Given the description of an element on the screen output the (x, y) to click on. 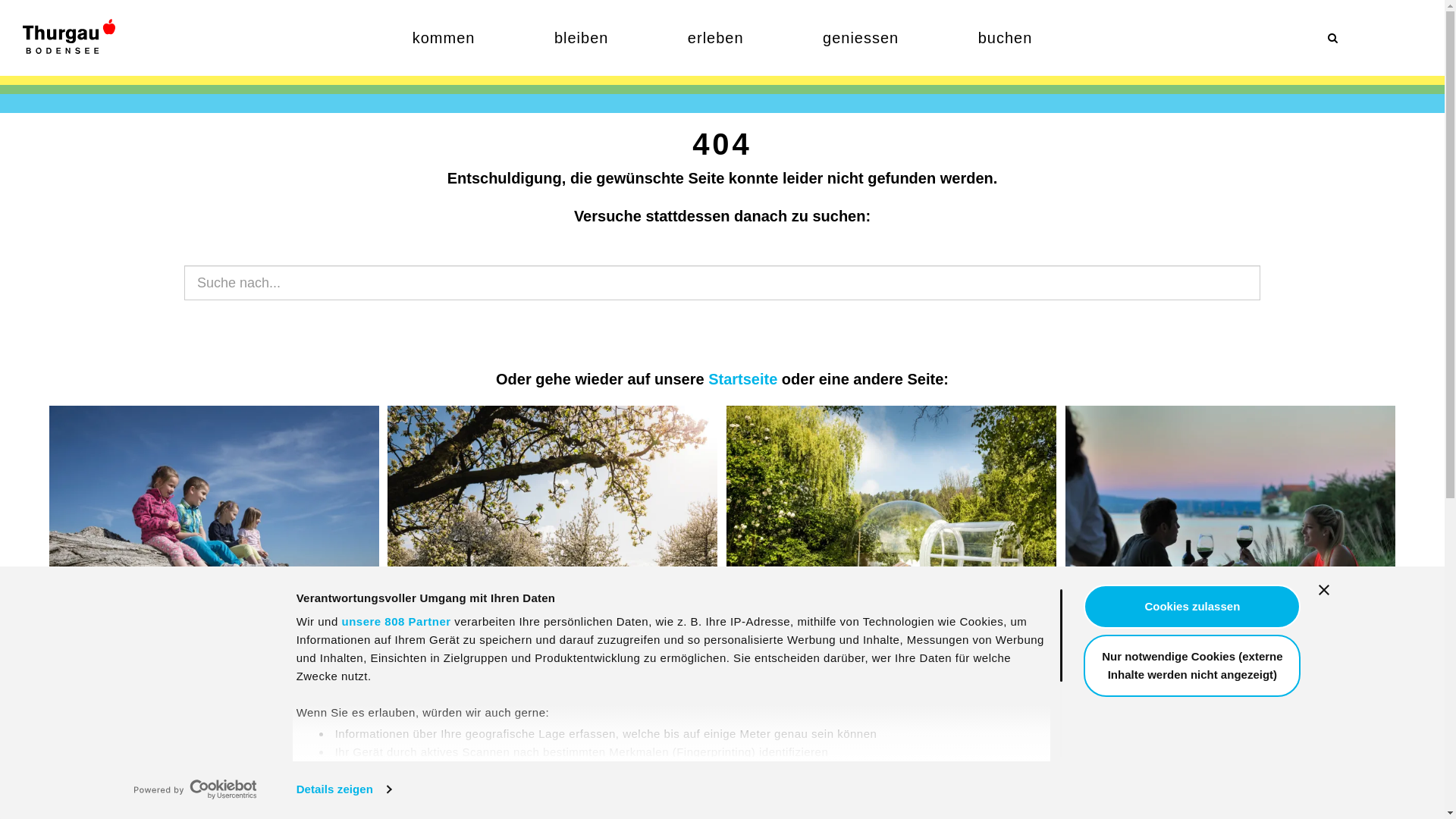
Startseite Element type: text (742, 378)
Organisation Element type: text (553, 808)
buchen Element type: text (1005, 37)
Familien-Tipps Element type: text (214, 674)
Genuss-Tipps Element type: text (1229, 674)
bleiben Element type: text (581, 37)
Details zeigen Element type: text (343, 789)
unsere 808 Partner Element type: text (395, 621)
kommen Element type: text (443, 37)
Mehr entdecken Element type: text (785, 808)
erleben Element type: text (715, 37)
Abschnitt Einzelheiten Element type: text (963, 772)
geniessen Element type: text (860, 37)
Genuss-Tipps Element type: hover (1230, 528)
Natur- und Kultur-Tipps Element type: text (551, 674)
Natur- und Kultur-Tipps Element type: hover (552, 528)
Cookies zulassen Element type: text (1191, 606)
Familien-Tipps Element type: hover (214, 528)
